Given the description of an element on the screen output the (x, y) to click on. 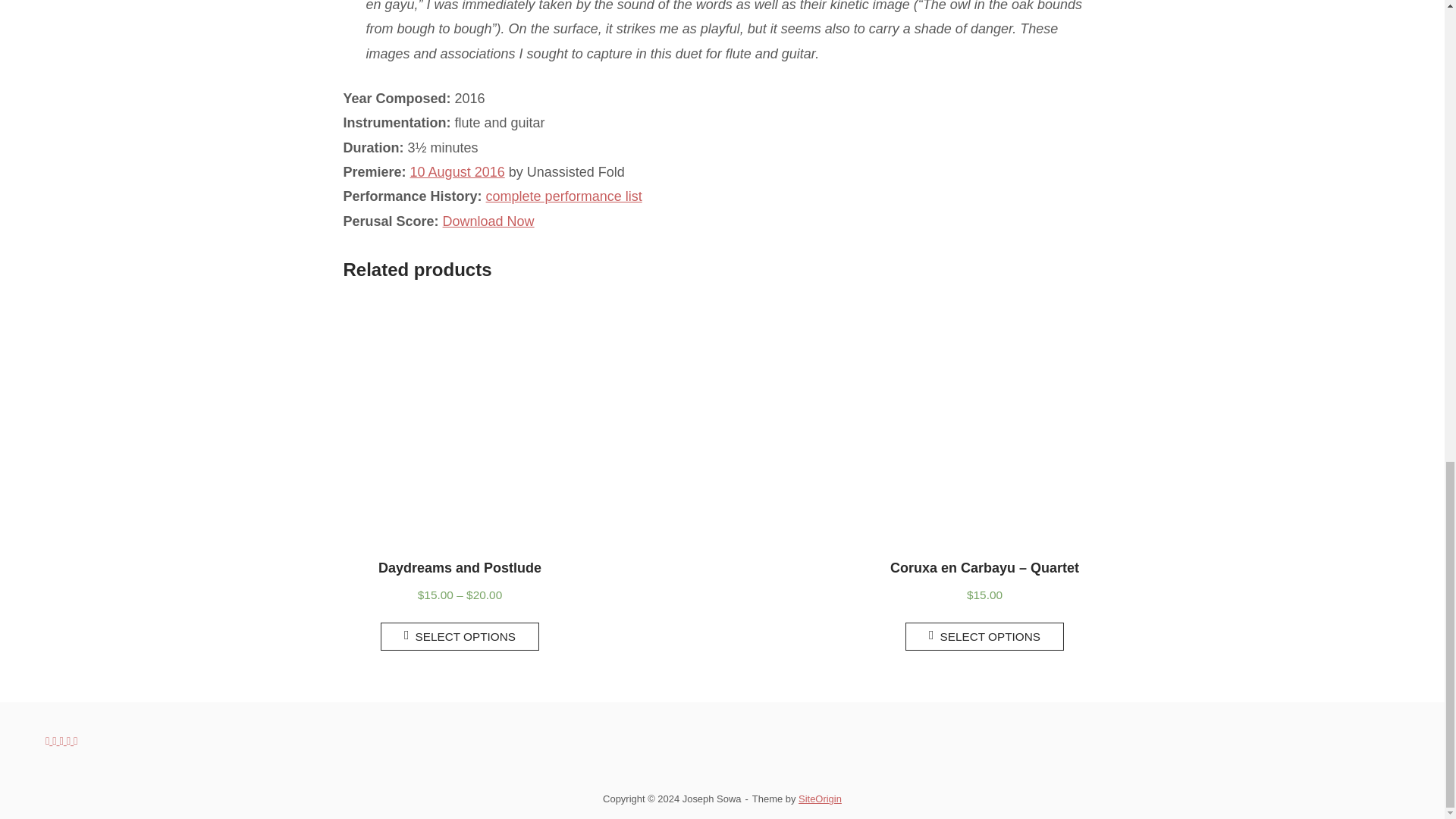
SELECT OPTIONS (984, 636)
SiteOrigin (819, 798)
10 August 2016 (457, 171)
SELECT OPTIONS (459, 636)
complete performance list (564, 196)
Download Now (488, 221)
